Given the description of an element on the screen output the (x, y) to click on. 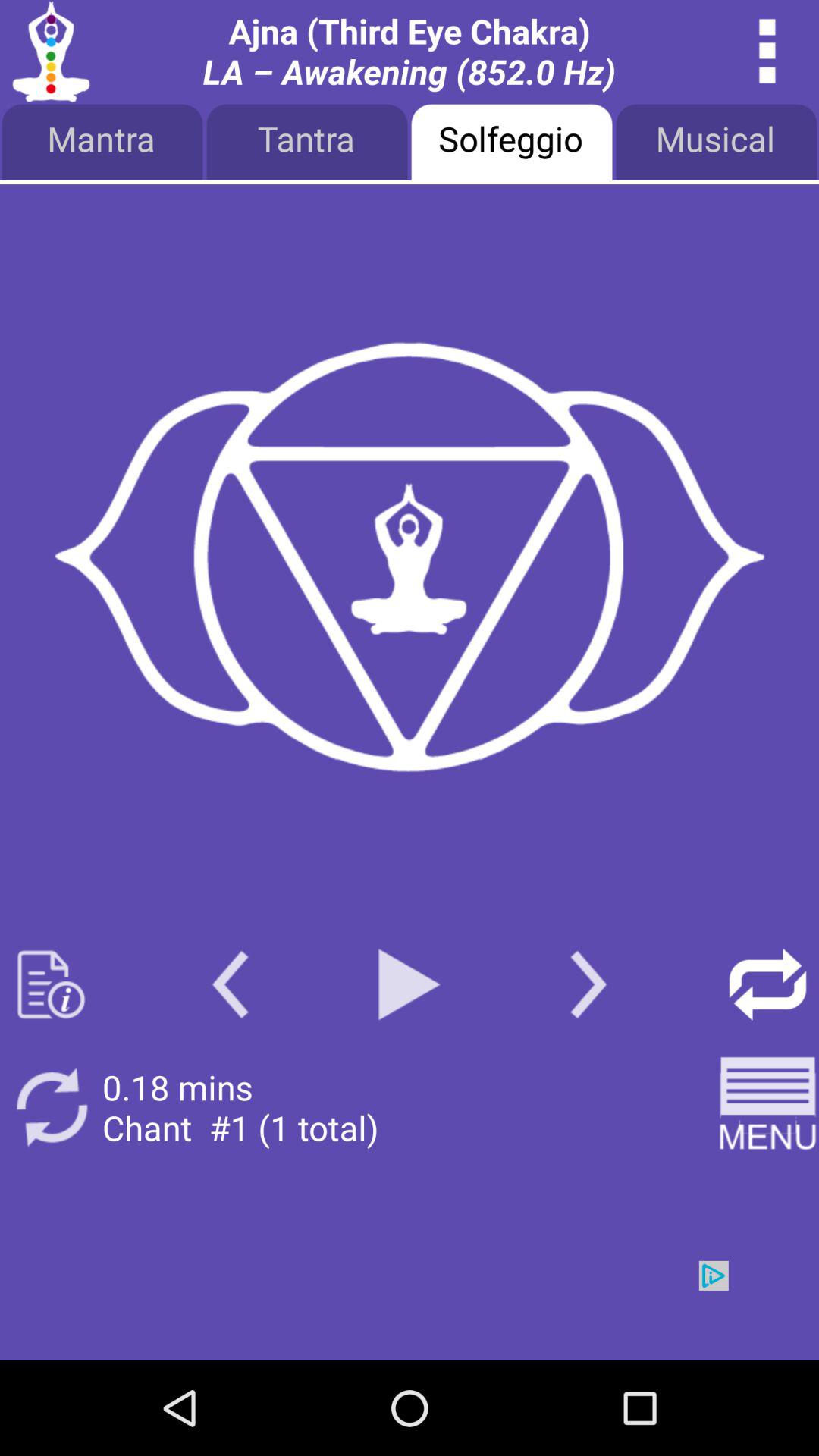
play button (409, 984)
